Given the description of an element on the screen output the (x, y) to click on. 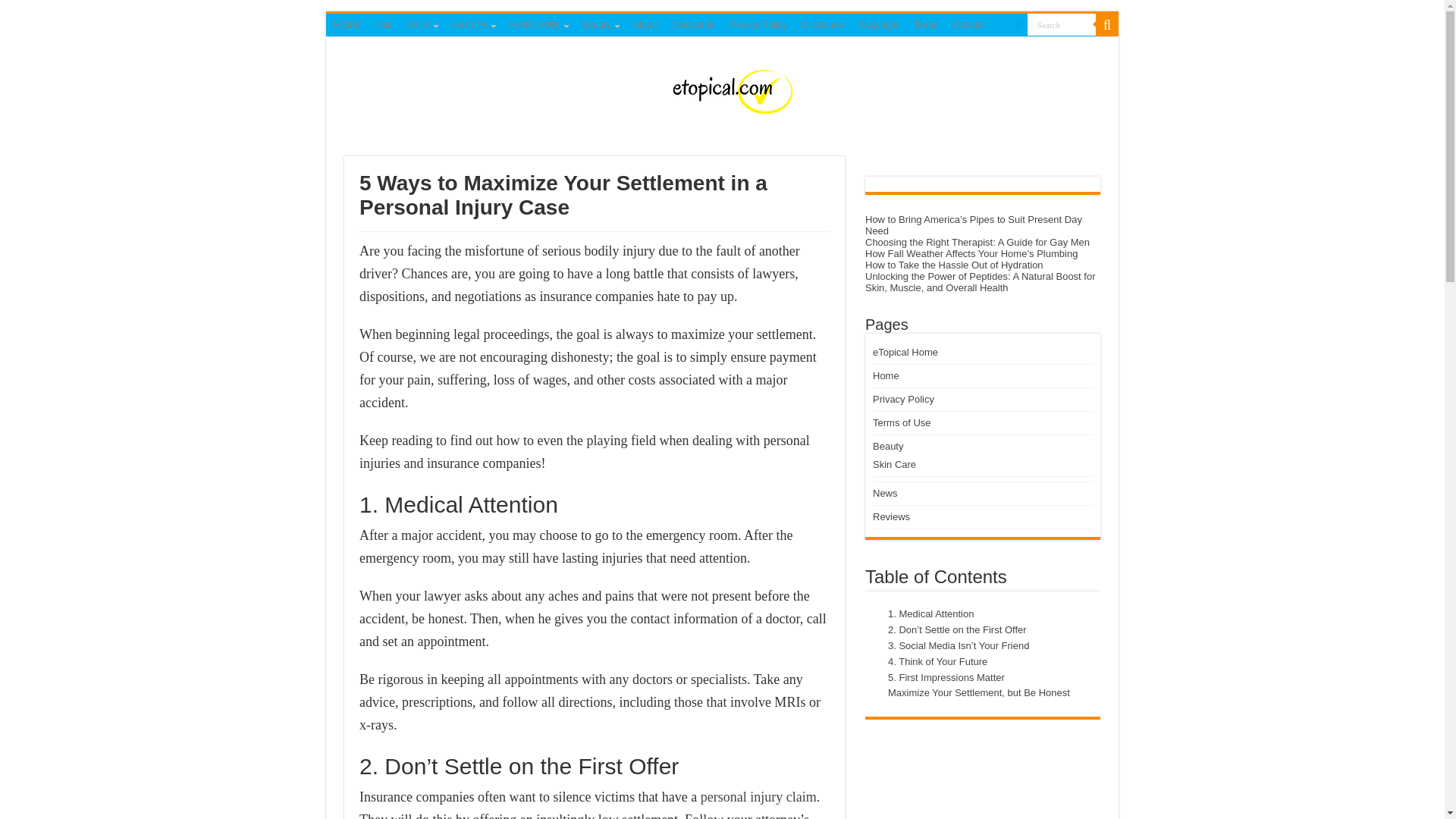
Maximize Your Settlement, but Be Honest (975, 693)
4. Think of Your Future (933, 662)
SKIN (422, 24)
HAIR CARE (537, 24)
HOME (347, 24)
Search (1061, 24)
HEALTH (473, 24)
1. Medical Attention (927, 614)
5. First Impressions Matter (942, 678)
eTopical (722, 85)
